Given the description of an element on the screen output the (x, y) to click on. 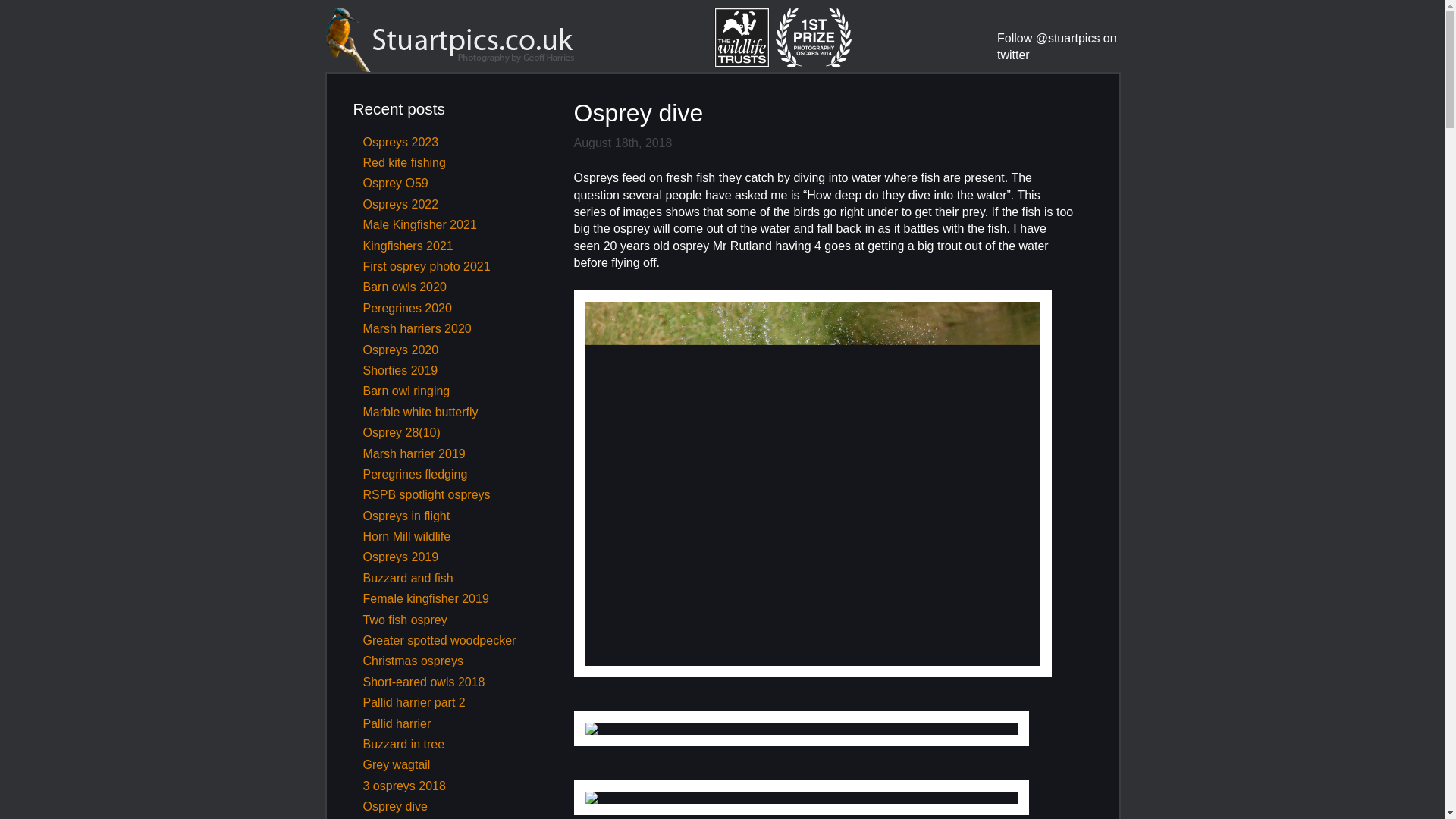
Christmas ospreys (412, 660)
Peregrines 2020 (406, 308)
Greater spotted woodpecker (438, 640)
Marble white butterfly (419, 411)
Pallid harrier part 2 (413, 702)
Buzzard in tree (403, 744)
Grey wagtail (395, 764)
Male Kingfisher 2021 (419, 224)
Marsh harriers 2020 (416, 328)
Short-eared owls 2018 (423, 681)
Ospreys in flight (405, 515)
Osprey O59 (395, 182)
Shorties 2019 (400, 369)
Female kingfisher 2019 (424, 598)
Marsh harrier 2019 (413, 453)
